Given the description of an element on the screen output the (x, y) to click on. 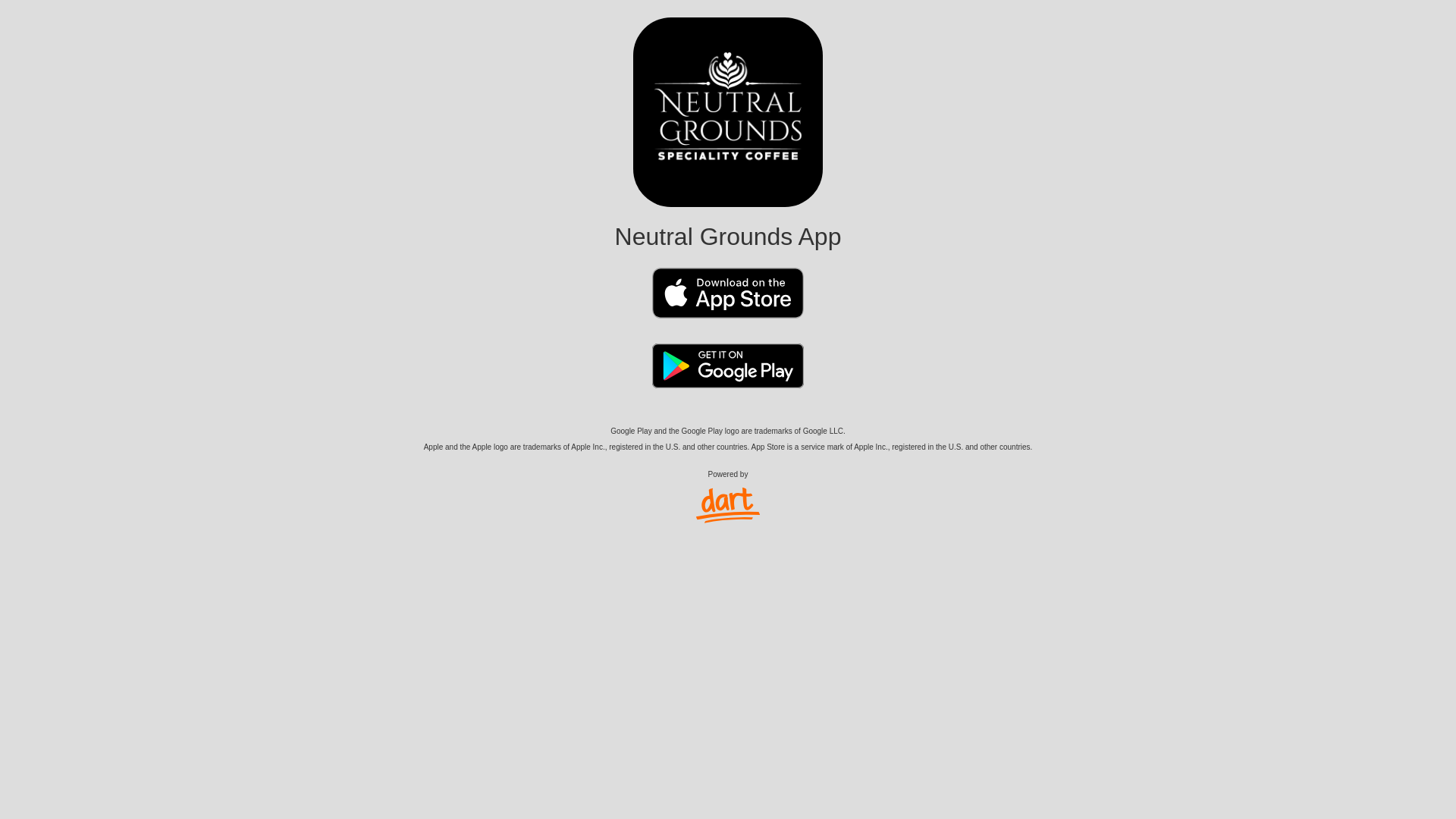
Powered by Element type: text (728, 496)
Get it on the App Store Element type: hover (727, 305)
Get it on Google Play Element type: hover (727, 381)
